Given the description of an element on the screen output the (x, y) to click on. 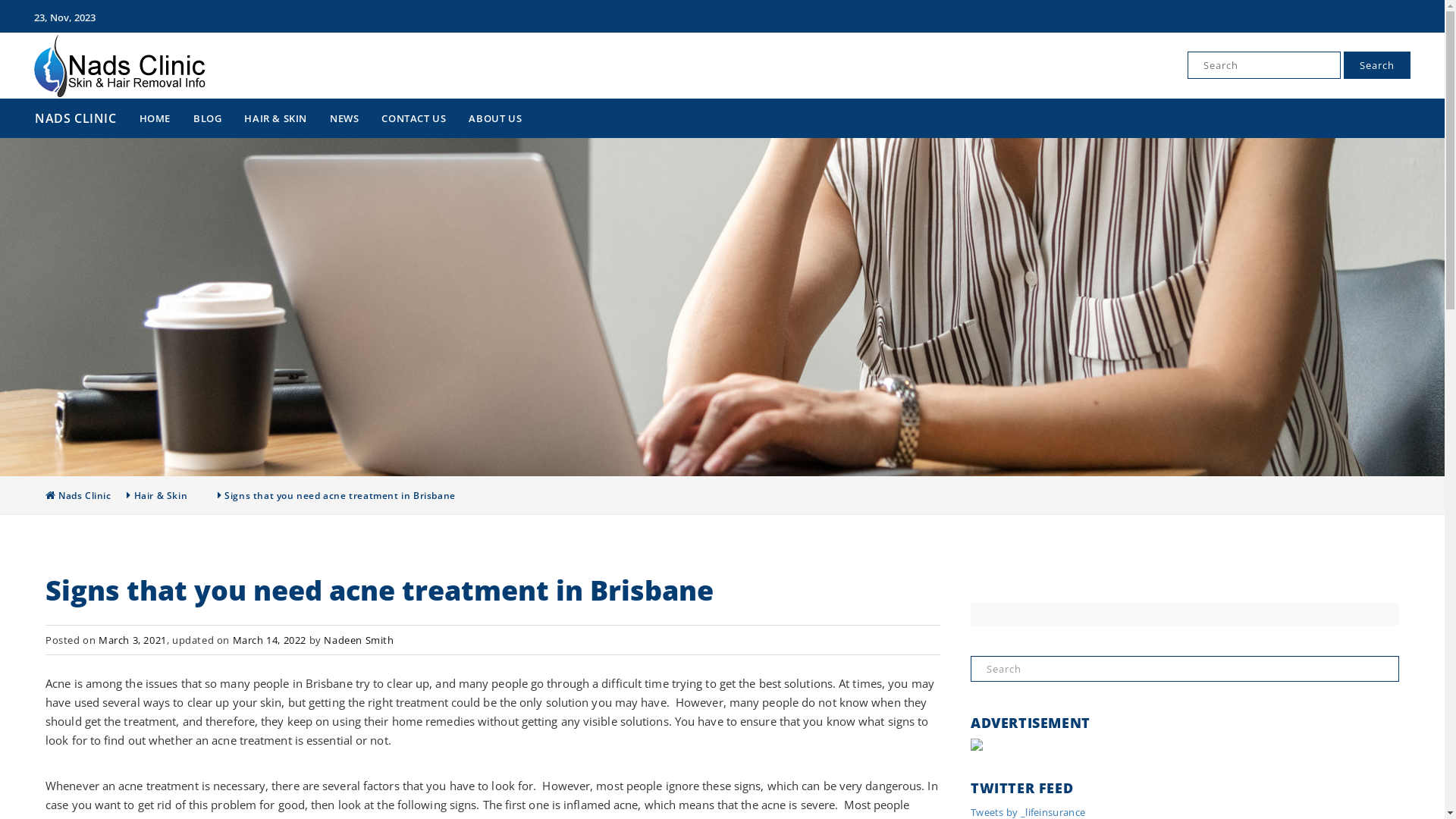
Nadeen Smith Element type: text (358, 639)
Hair & Skin Element type: text (161, 495)
March 3, 2021 Element type: text (132, 639)
Search Element type: text (33, 14)
HOME Element type: text (155, 118)
BLOG Element type: text (207, 118)
Signs that you need acne treatment in Brisbane Element type: text (339, 495)
Search for: Element type: hover (1184, 668)
HAIR & SKIN Element type: text (275, 118)
Search for: Element type: hover (1263, 65)
Search Element type: text (1376, 65)
NADS CLINIC Element type: text (111, 129)
March 14, 2022 Element type: text (269, 639)
NEWS Element type: text (344, 118)
CONTACT US Element type: text (413, 118)
ABOUT US Element type: text (495, 118)
NADS CLINIC Element type: text (81, 118)
Nads Clinic Element type: text (84, 495)
